Given the description of an element on the screen output the (x, y) to click on. 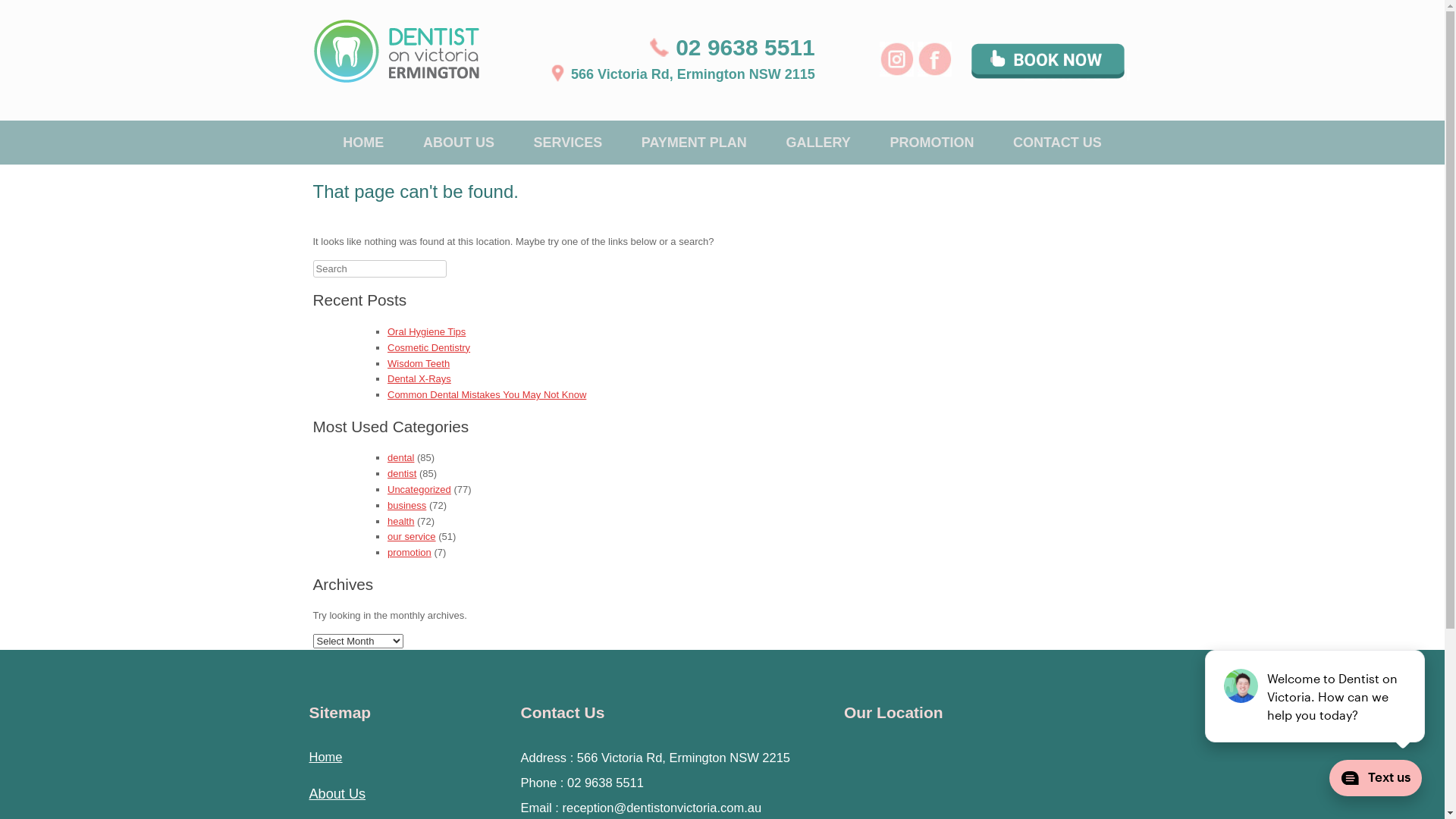
Dentist On Victoria Element type: hover (395, 50)
dentist Element type: text (401, 473)
Cosmetic Dentistry Element type: text (428, 347)
About Us Element type: text (337, 793)
GALLERY Element type: text (817, 141)
SERVICES Element type: text (568, 141)
podium webchat widget prompt Element type: hover (1315, 696)
Dental X-Rays Element type: text (419, 378)
our service Element type: text (411, 536)
ABOUT US Element type: text (458, 141)
CONTACT US Element type: text (1057, 141)
Wisdom Teeth Element type: text (418, 363)
dental Element type: text (400, 457)
Uncategorized Element type: text (419, 489)
promotion Element type: text (409, 552)
02 9638 5511 Element type: text (745, 46)
business Element type: text (406, 505)
PAYMENT PLAN Element type: text (694, 141)
HOME Element type: text (363, 141)
PROMOTION Element type: text (931, 141)
health Element type: text (400, 521)
Common Dental Mistakes You May Not Know Element type: text (486, 394)
Oral Hygiene Tips Element type: text (426, 331)
Home Element type: text (325, 756)
